Given the description of an element on the screen output the (x, y) to click on. 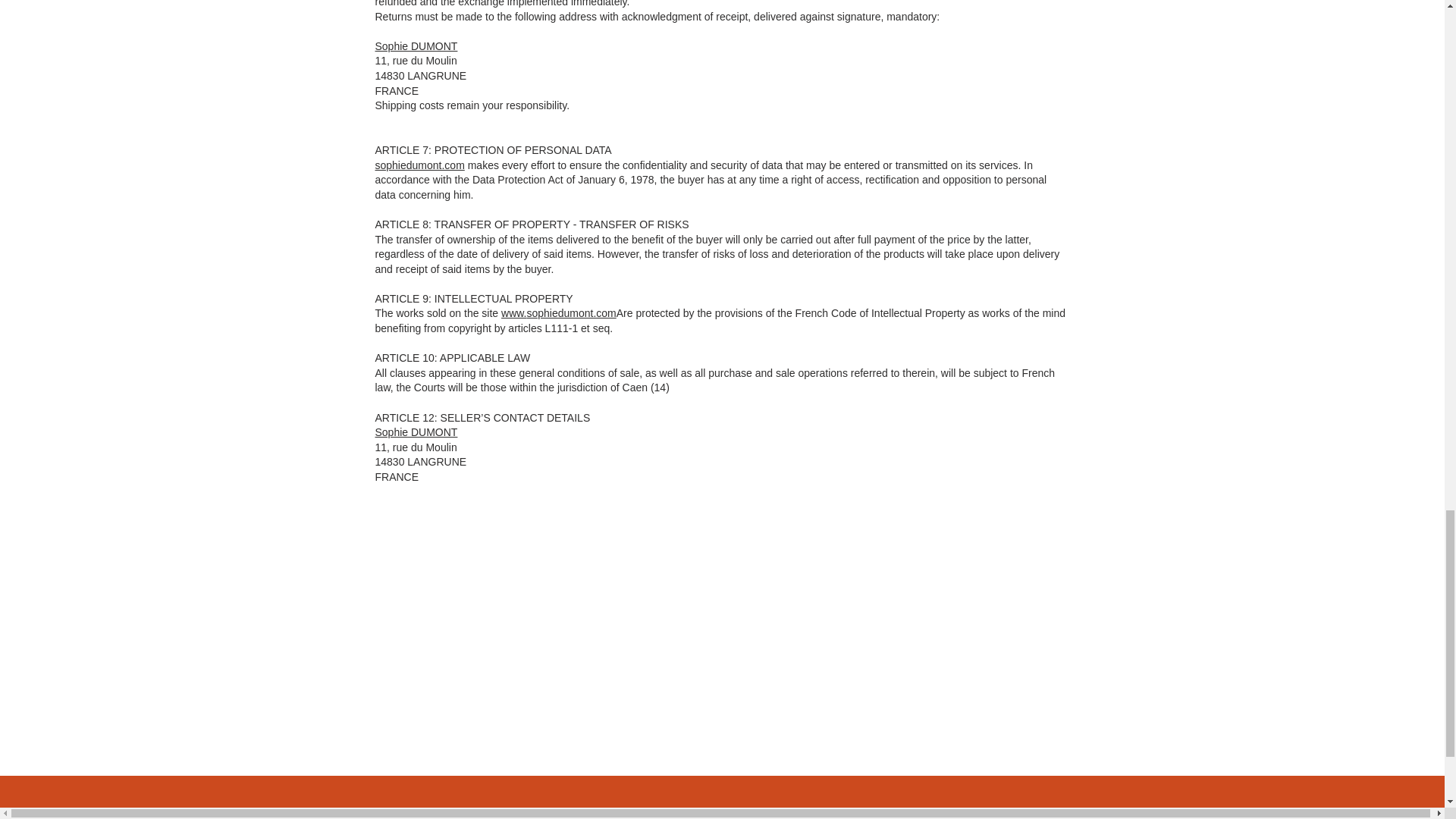
Terms and conditions (787, 816)
Sophie DUMONT (415, 46)
sophiedumont.com (570, 313)
sophiedumont.com (419, 164)
Sophie DUMONT (415, 431)
www. (512, 313)
